Given the description of an element on the screen output the (x, y) to click on. 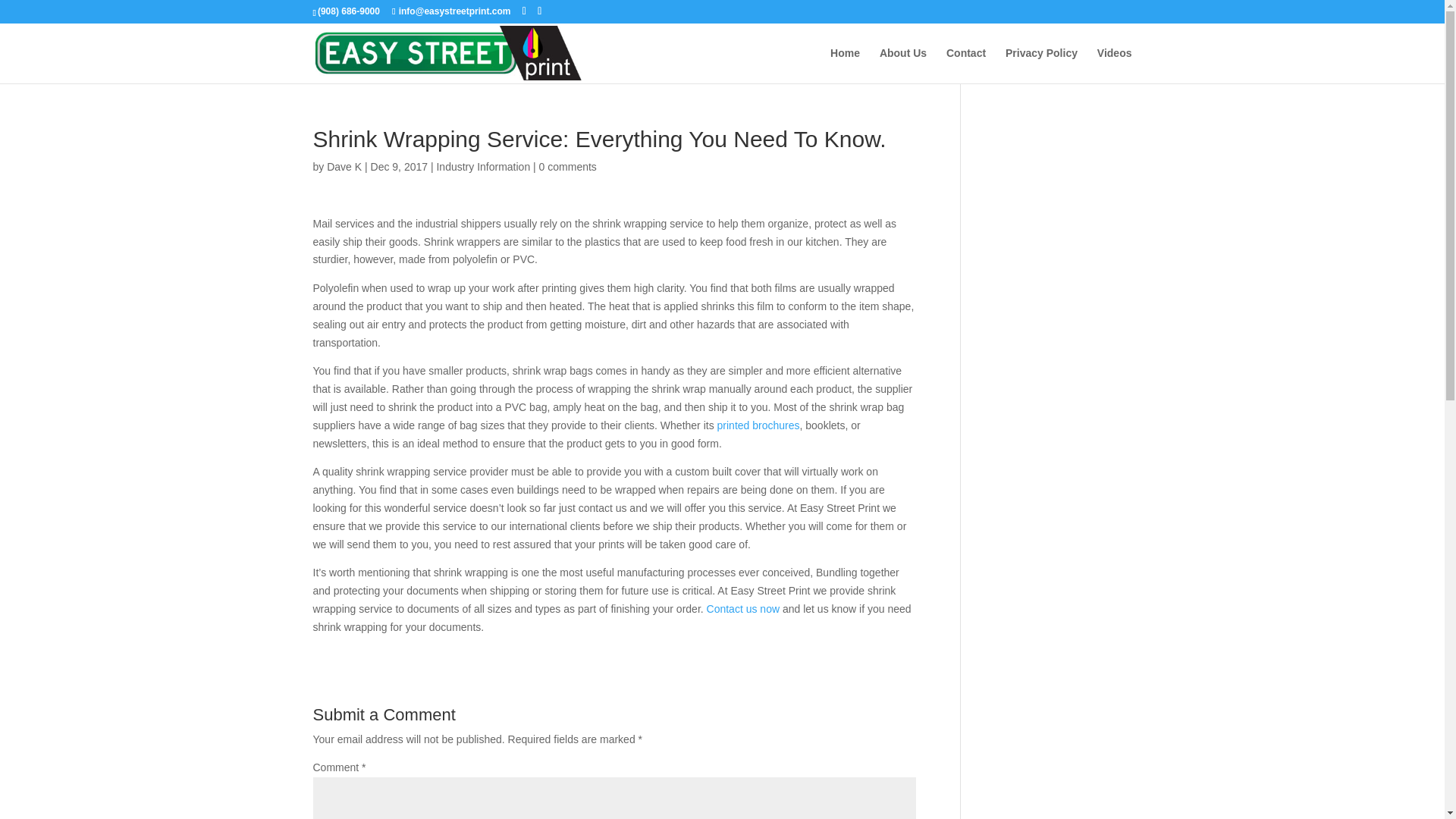
printed brochures (758, 425)
Dave K (343, 166)
Privacy Policy (1041, 65)
Industry Information (482, 166)
Videos (1114, 65)
Contact (965, 65)
About Us (902, 65)
0 comments (567, 166)
Contact us now (743, 608)
Posts by Dave K (343, 166)
